Given the description of an element on the screen output the (x, y) to click on. 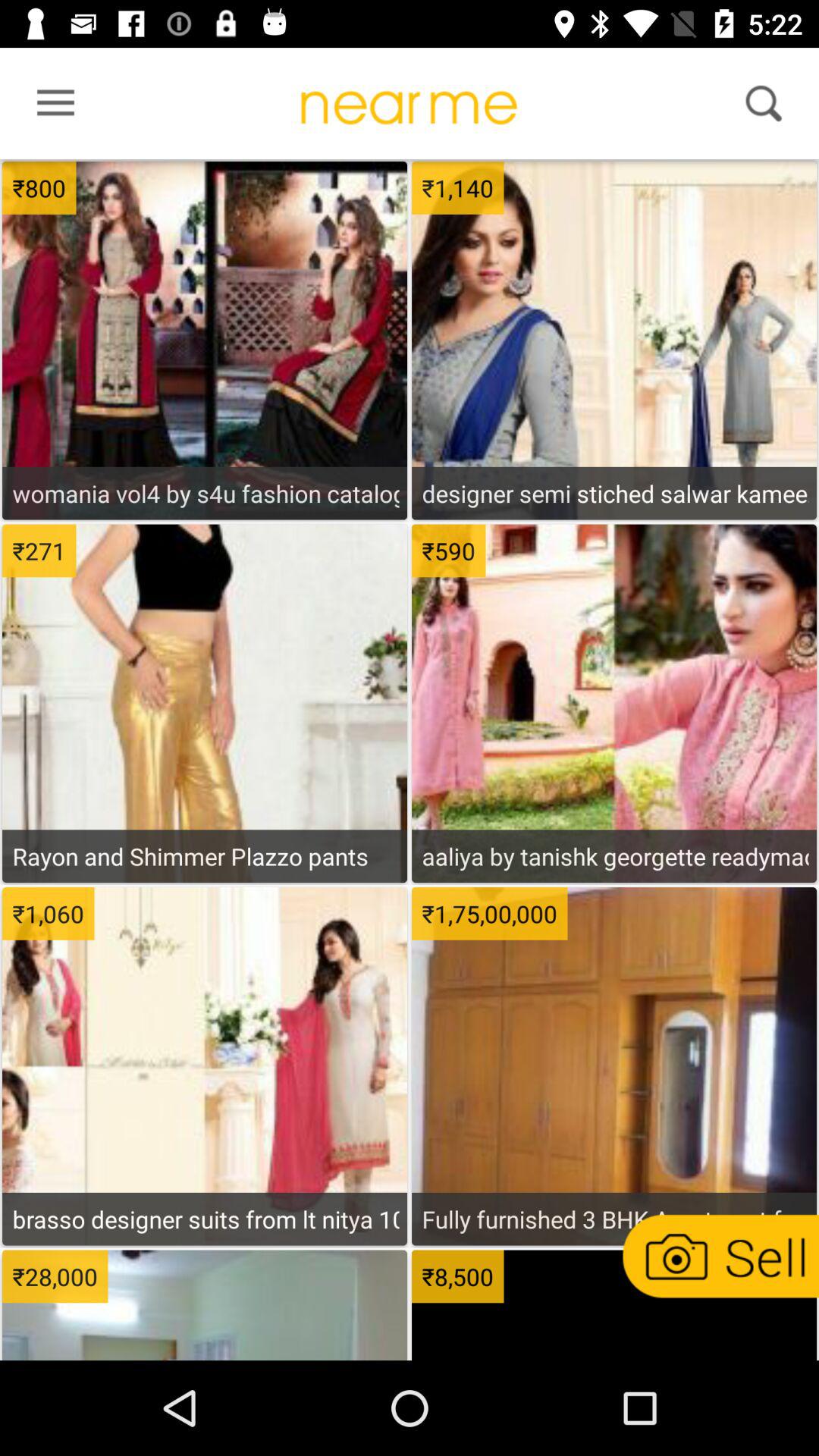
swipe until the aaliya by tanishk (613, 855)
